Given the description of an element on the screen output the (x, y) to click on. 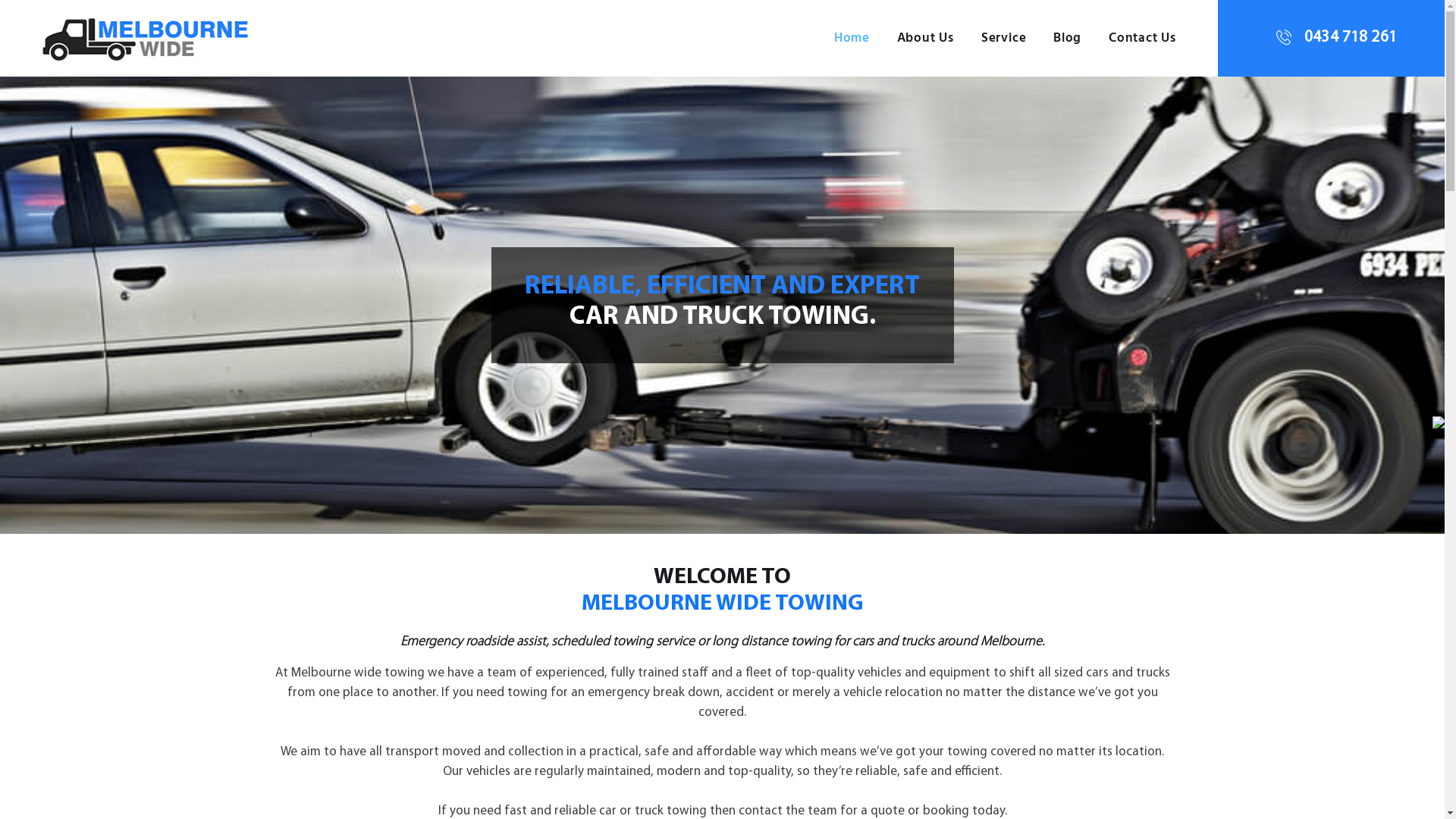
Home Element type: text (851, 38)
Blog Element type: text (1067, 38)
Service Element type: text (1003, 38)
0434 718 261 Element type: text (1336, 38)
About Us Element type: text (925, 38)
Contact Us Element type: text (1142, 38)
